Given the description of an element on the screen output the (x, y) to click on. 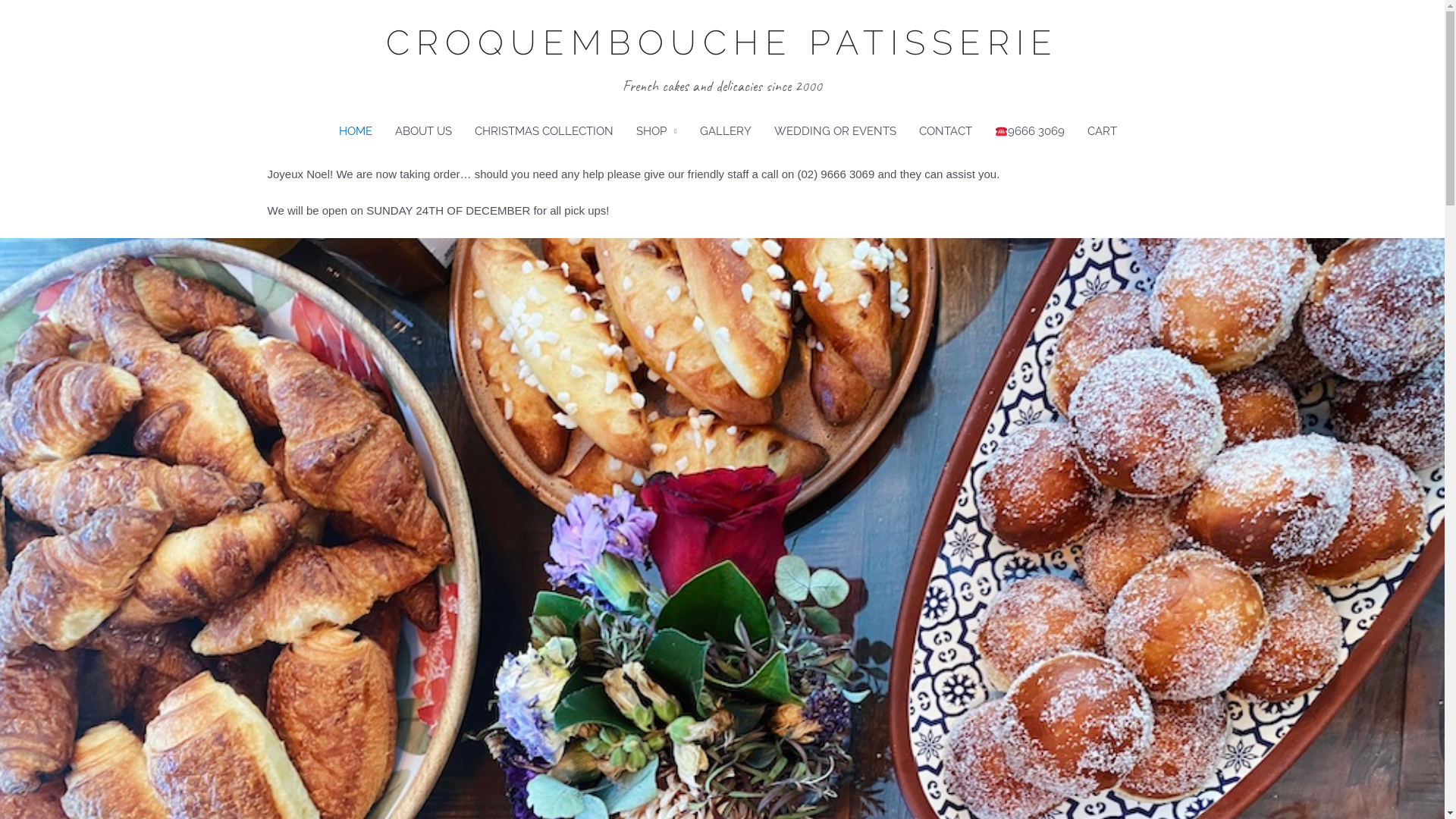
9666 3069 Element type: text (1029, 130)
CHRISTMAS COLLECTION Element type: text (543, 130)
HOME Element type: text (355, 130)
GALLERY Element type: text (725, 130)
CROQUEMBOUCHE PATISSERIE Element type: text (721, 42)
ABOUT US Element type: text (423, 130)
CART Element type: text (1102, 130)
WEDDING OR EVENTS Element type: text (834, 130)
SHOP Element type: text (655, 130)
CONTACT Element type: text (945, 130)
